Given the description of an element on the screen output the (x, y) to click on. 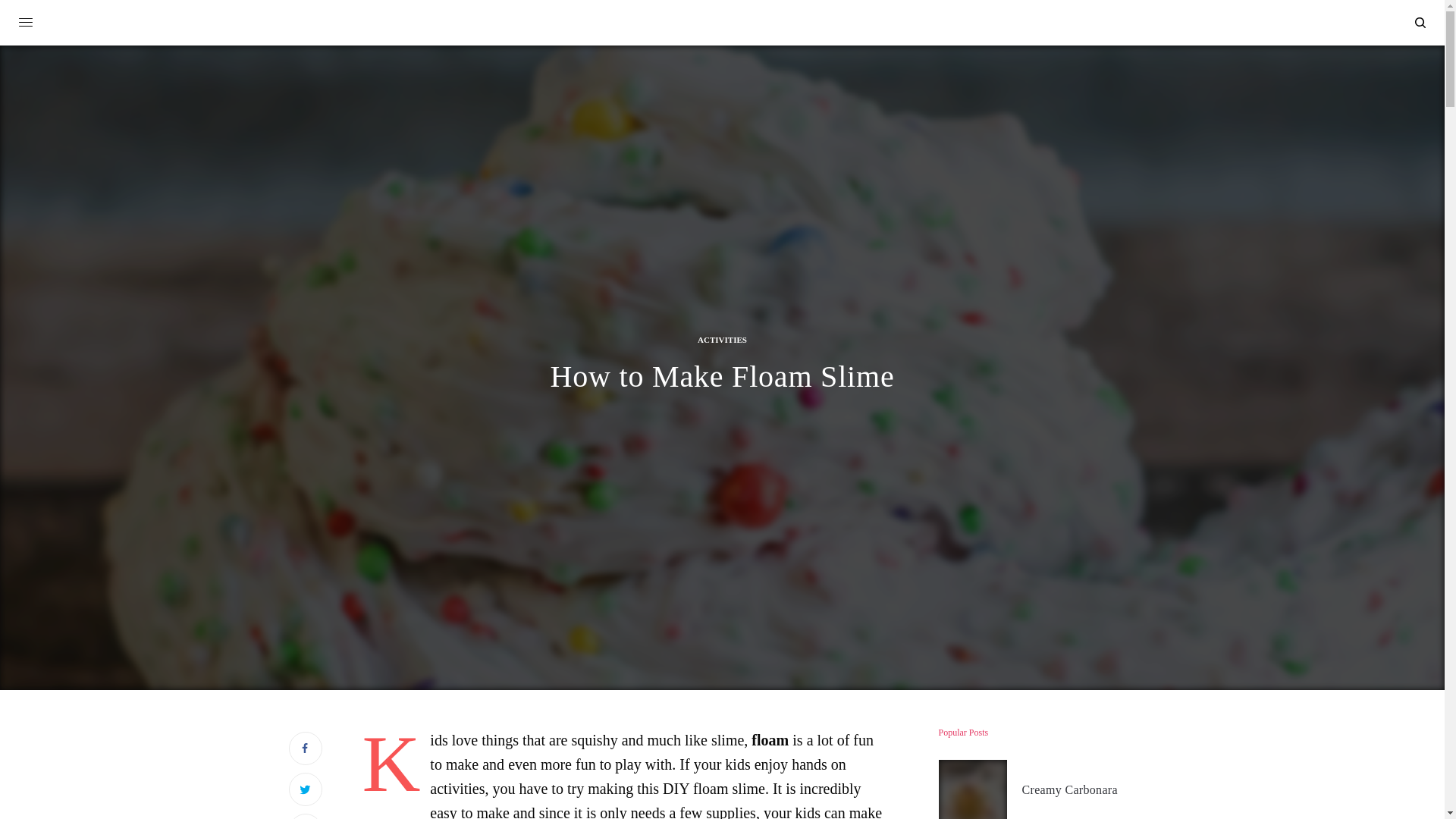
ACTIVITIES (721, 339)
Creamy Carbonara (1070, 790)
About a Mom (722, 24)
